Given the description of an element on the screen output the (x, y) to click on. 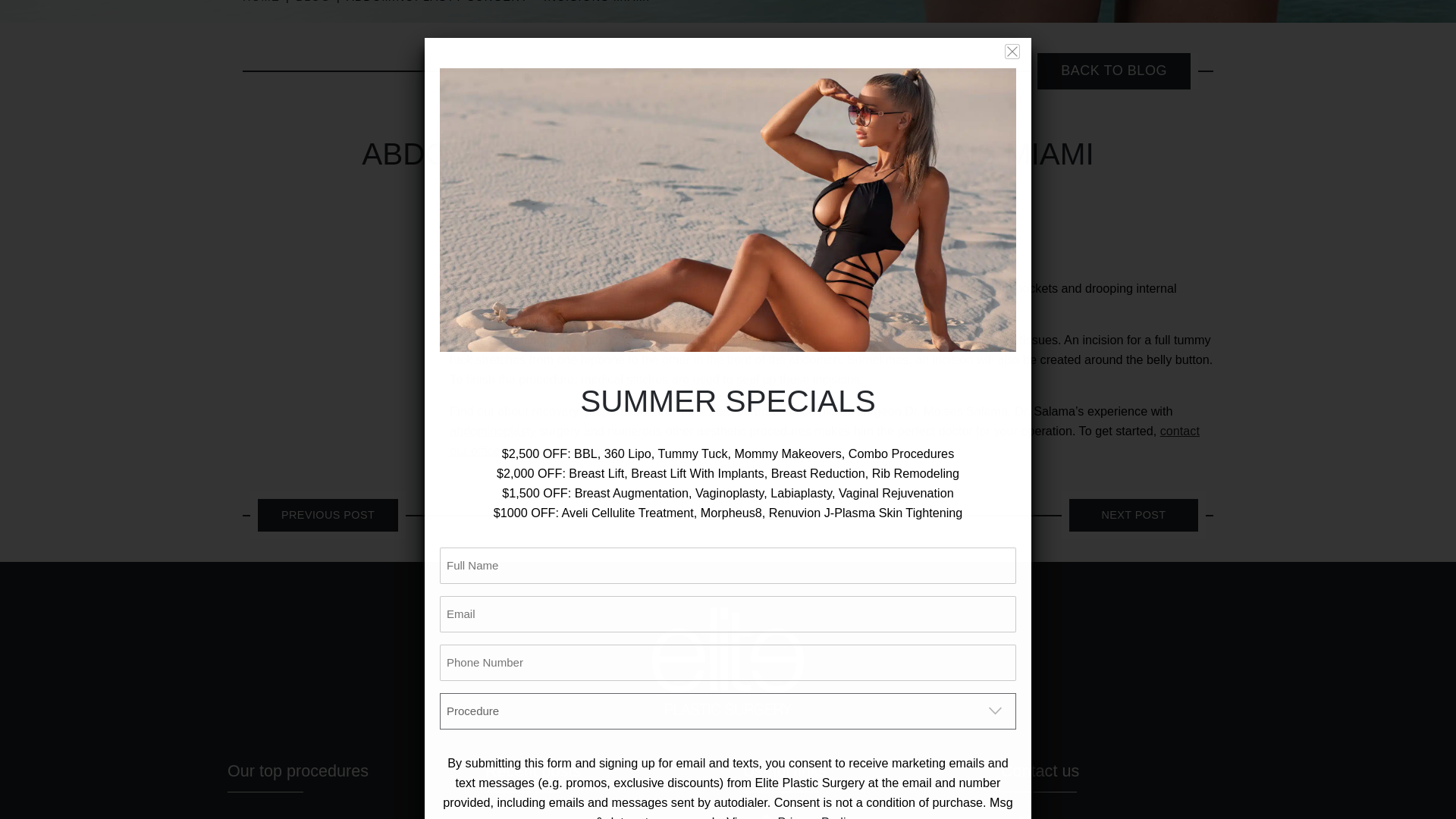
Tummy Tuck Miami (492, 430)
Submit (489, 46)
